Given the description of an element on the screen output the (x, y) to click on. 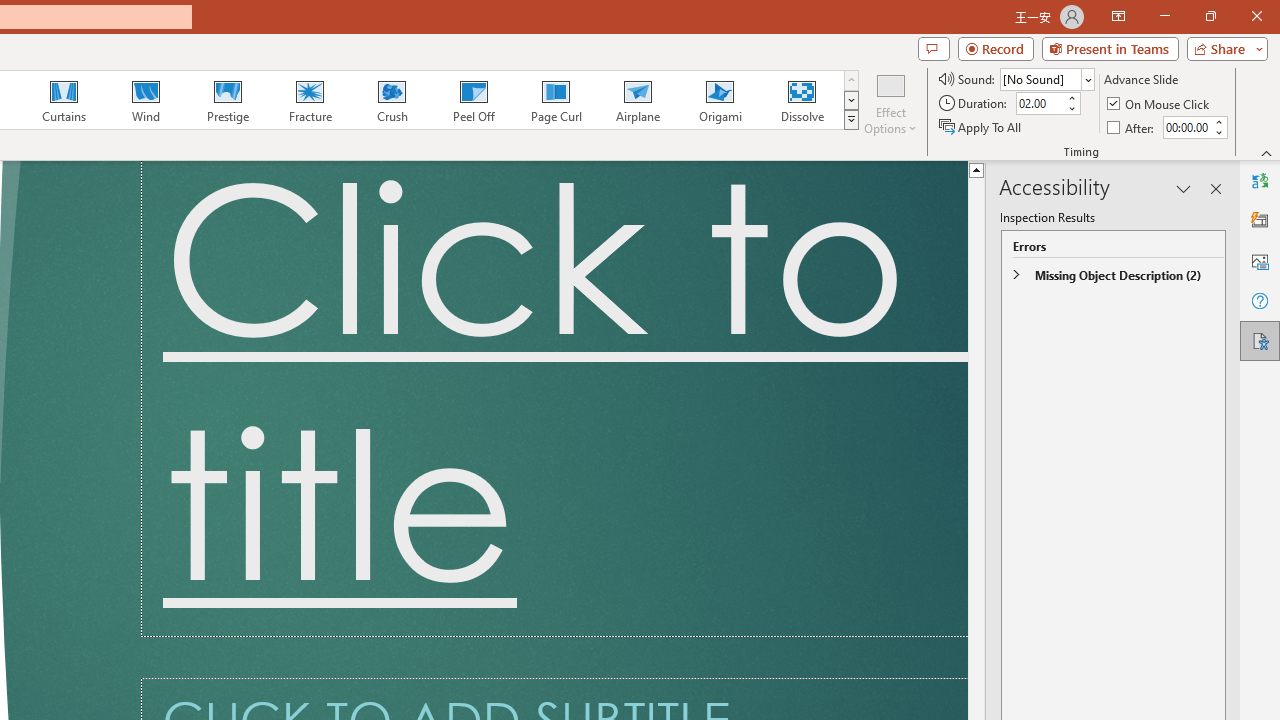
Peel Off (473, 100)
Prestige (227, 100)
Wind (145, 100)
Curtains (63, 100)
After (1186, 127)
Apply To All (981, 126)
Page Curl (555, 100)
On Mouse Click (1159, 103)
